Given the description of an element on the screen output the (x, y) to click on. 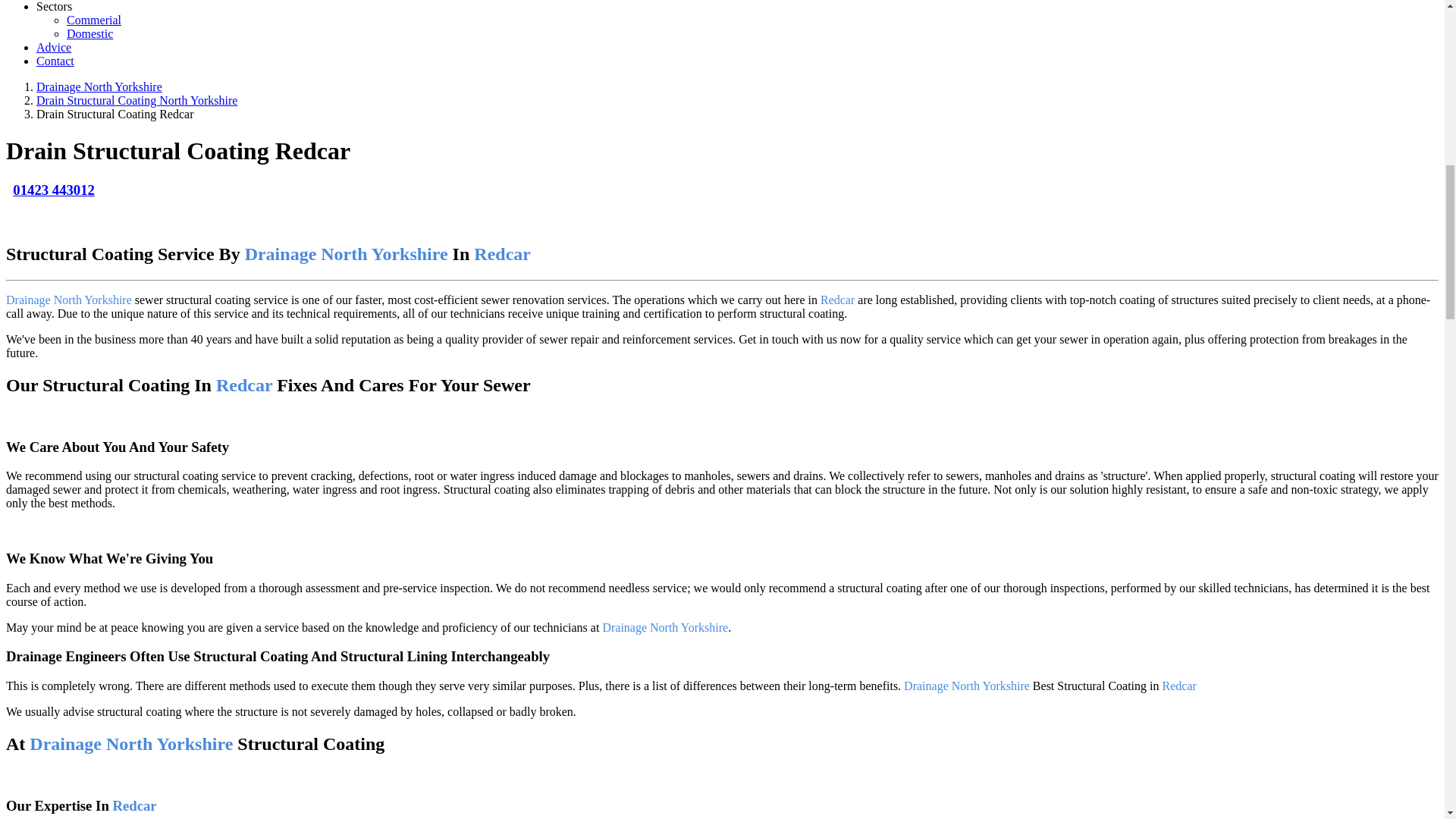
Commerial (93, 19)
Sectors (53, 6)
Domestic (89, 33)
